Given the description of an element on the screen output the (x, y) to click on. 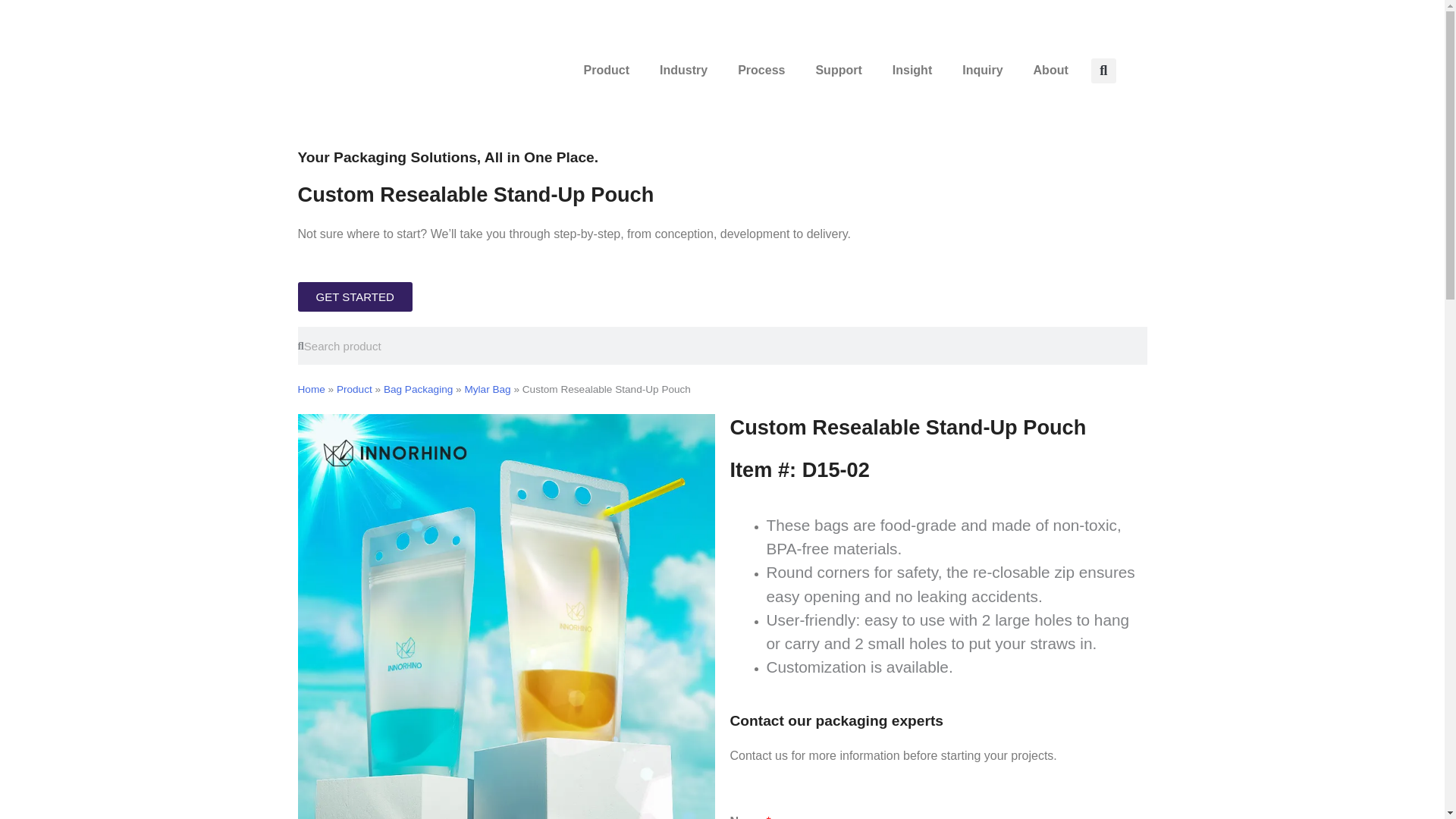
Inquiry (982, 70)
Support (837, 70)
About (1050, 70)
Insight (912, 70)
Process (760, 70)
Industry (683, 70)
Product (607, 70)
